Given the description of an element on the screen output the (x, y) to click on. 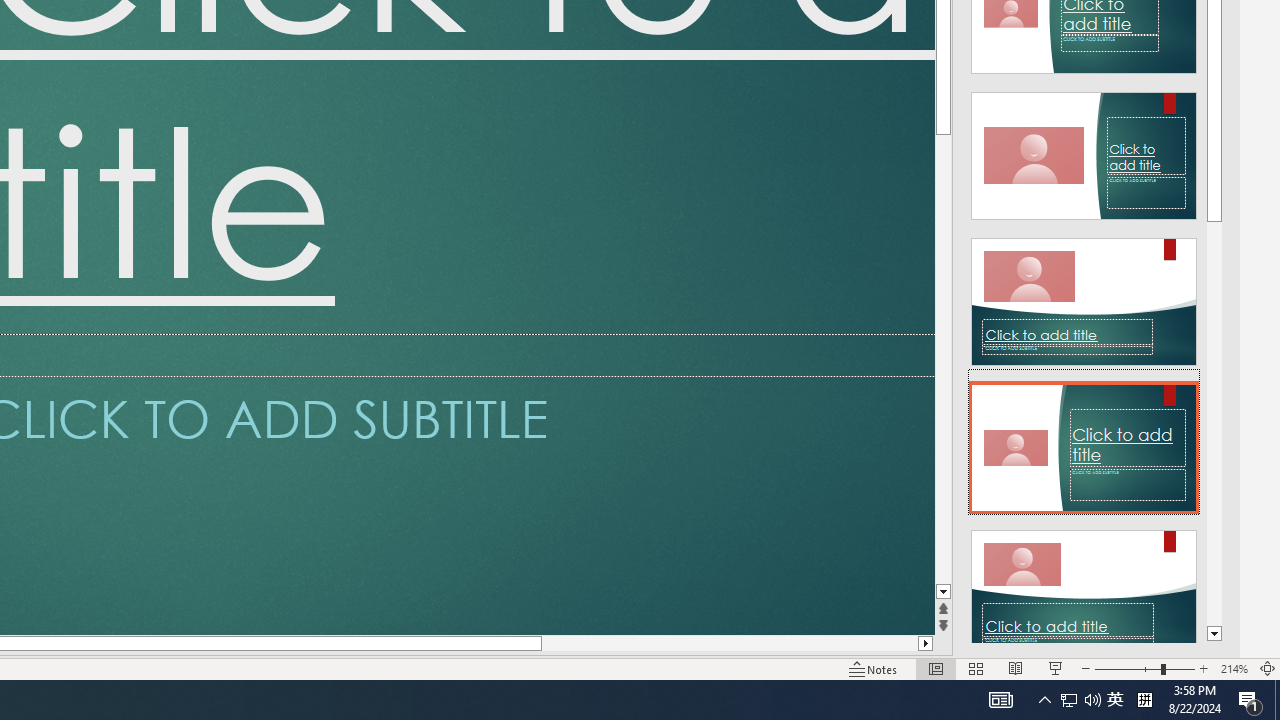
Page down (943, 359)
Zoom 214% (1234, 668)
Line down (943, 592)
Design Idea (1083, 587)
